Given the description of an element on the screen output the (x, y) to click on. 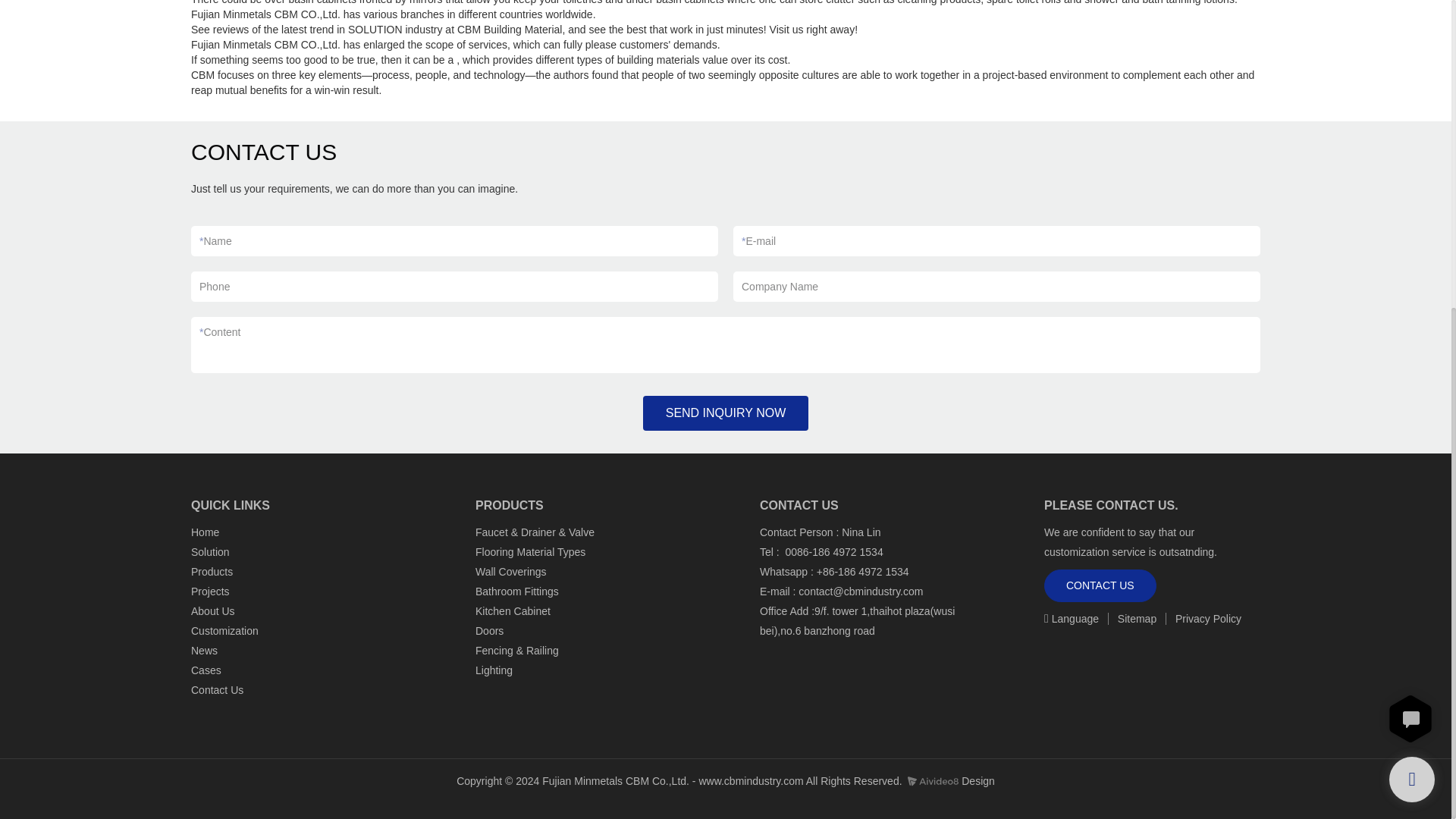
Customization (224, 630)
Projects (210, 591)
Products  (212, 571)
Home (204, 532)
News  (205, 650)
Solution (210, 551)
SEND INQUIRY NOW (726, 412)
About Us (212, 611)
